Given the description of an element on the screen output the (x, y) to click on. 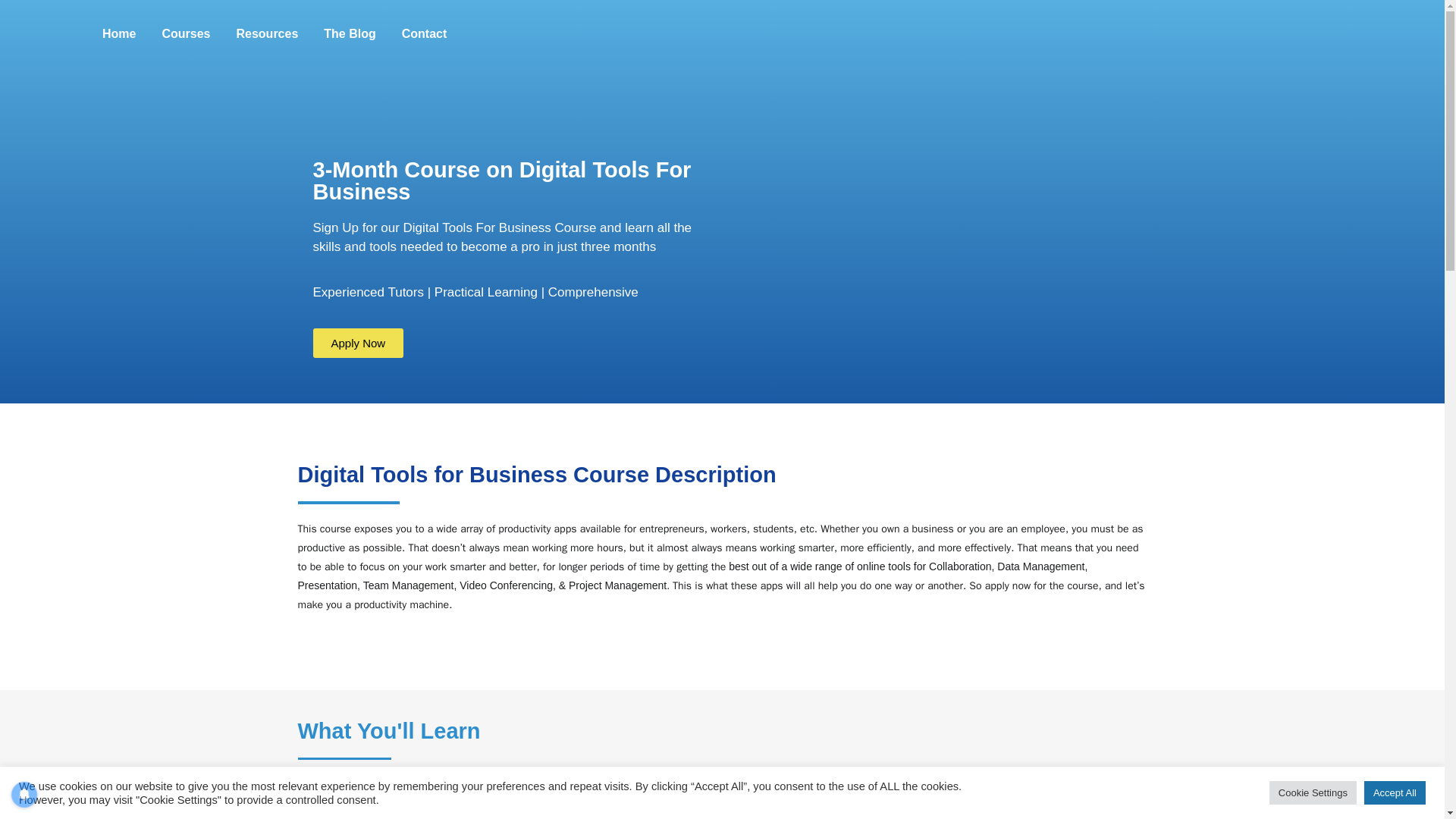
The Blog (350, 33)
Courses (185, 33)
Rank Math Plugin: A Complete Setup and Usage Guide- 2023 (37, 444)
Apply Now (358, 342)
Contact (424, 33)
Resources (266, 33)
Home (118, 33)
